Given the description of an element on the screen output the (x, y) to click on. 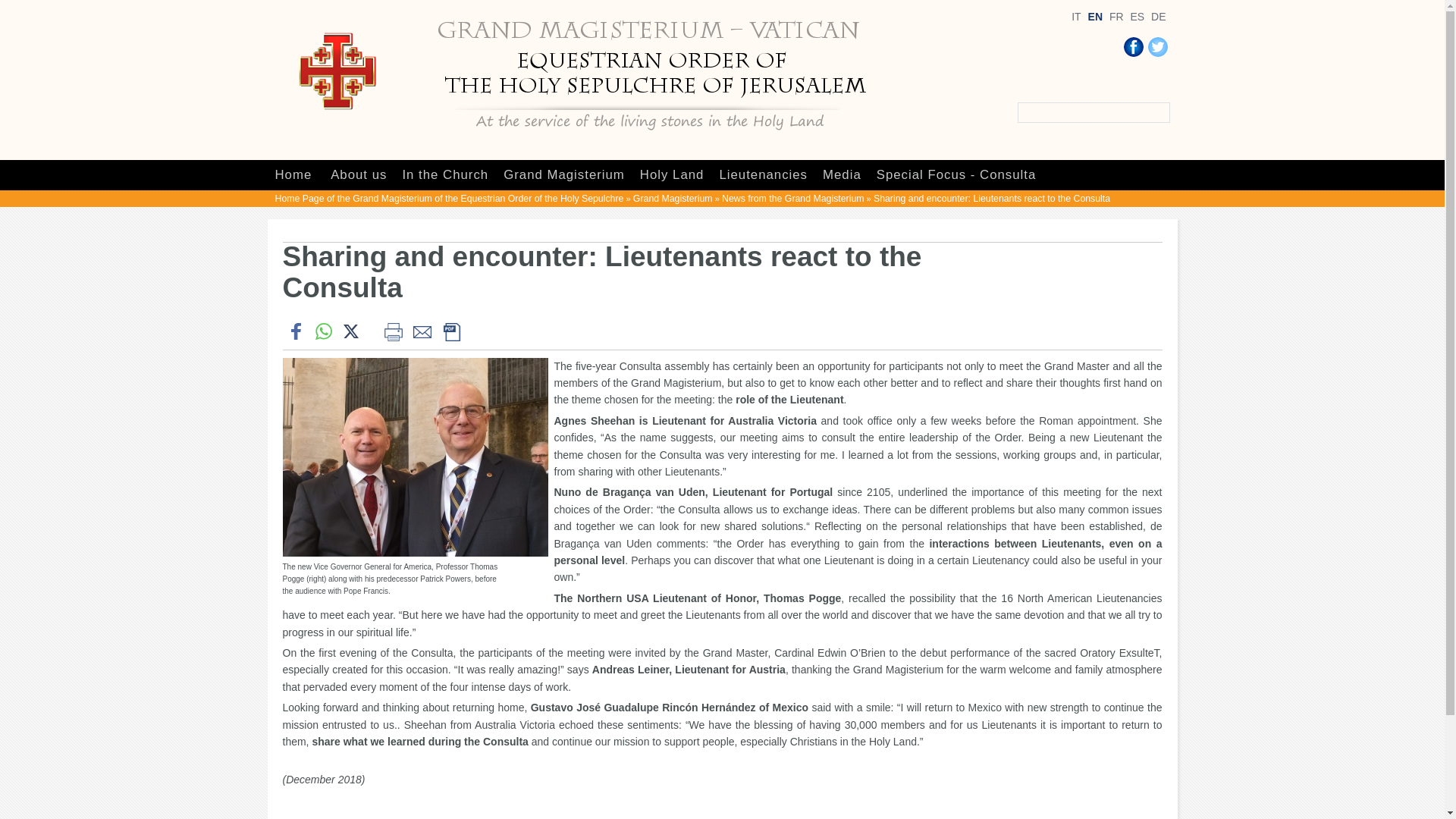
Home (293, 174)
DE (1158, 16)
Search (1160, 112)
EN (1094, 16)
Facebook (1133, 46)
Grand Magisterium (563, 174)
Lieutenancies (763, 174)
Pdf (451, 331)
Media (841, 174)
